Given the description of an element on the screen output the (x, y) to click on. 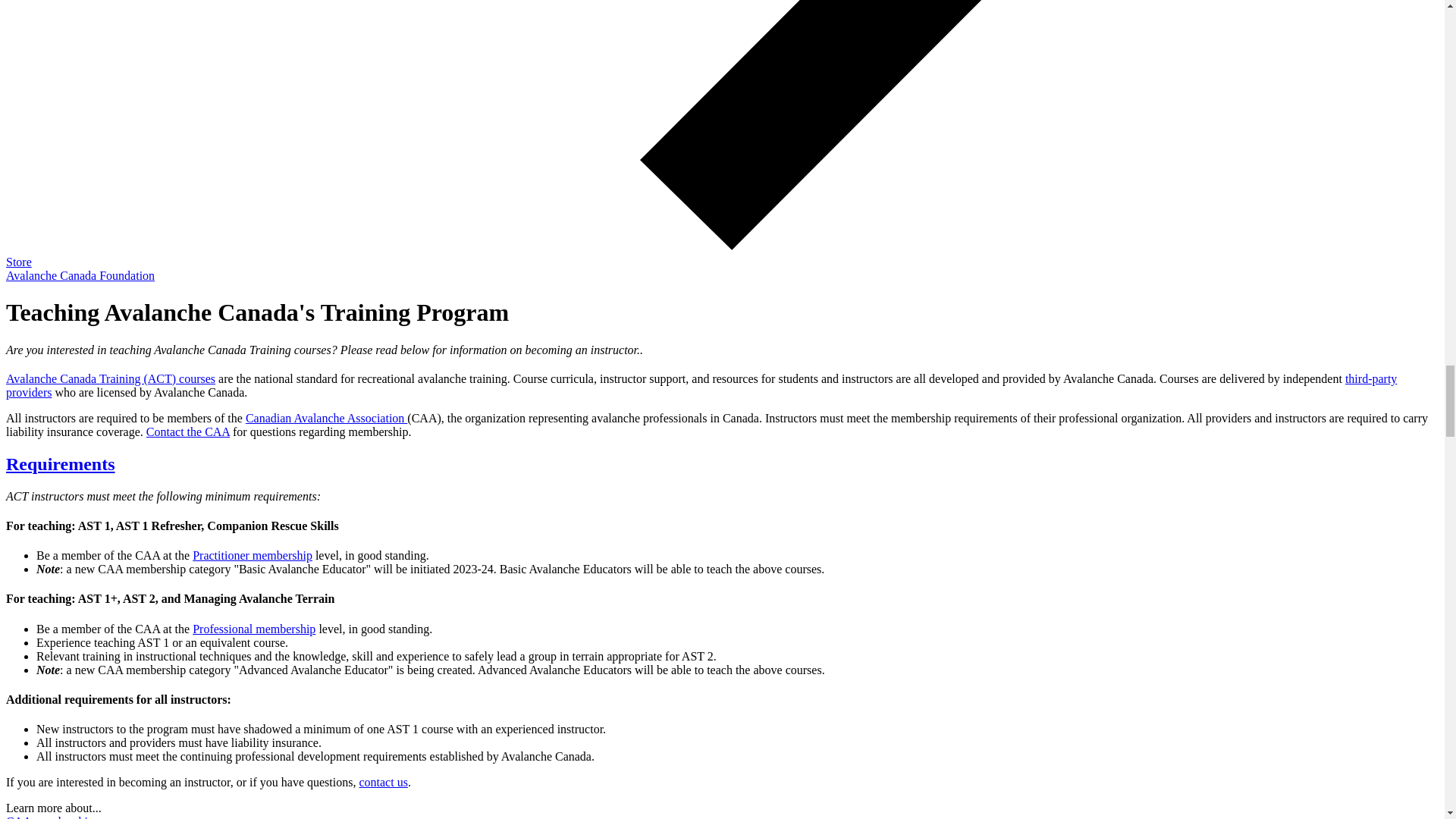
CAA membership (49, 816)
Practitioner membership (252, 554)
Requirements (60, 464)
Avalanche Canada Foundation (79, 275)
Professional membership (253, 628)
Canadian Avalanche Association (326, 418)
Contact the CAA (188, 431)
Store (18, 261)
third-party providers (700, 385)
contact us (382, 781)
